Given the description of an element on the screen output the (x, y) to click on. 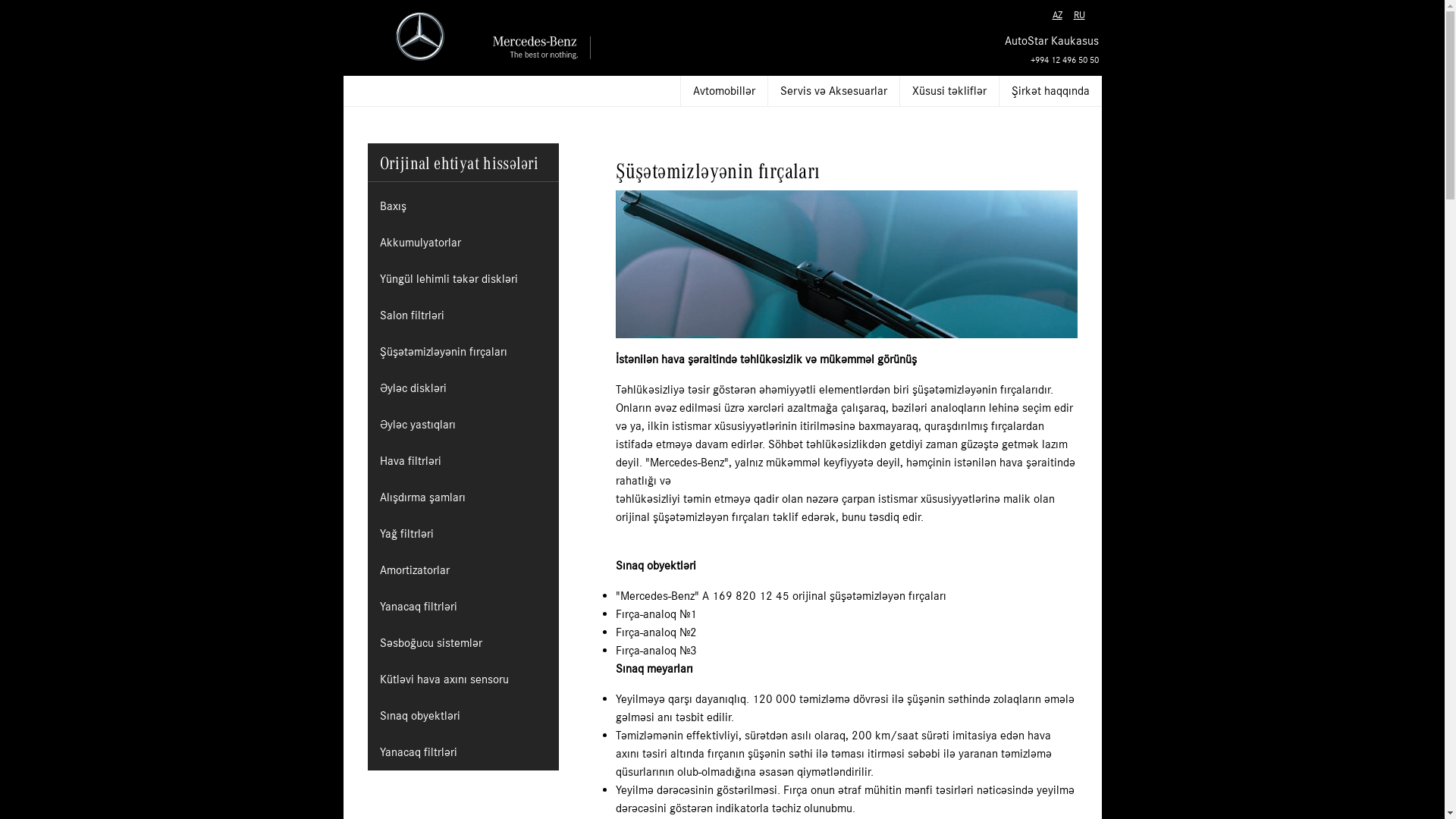
Amortizatorlar Element type: text (413, 569)
AutoStar Kaukasus Element type: text (1051, 48)
Akkumulyatorlar Element type: text (419, 242)
+994 12 496 50 50 Element type: text (1063, 59)
AZ Element type: text (1057, 15)
RU Element type: text (1079, 15)
